Given the description of an element on the screen output the (x, y) to click on. 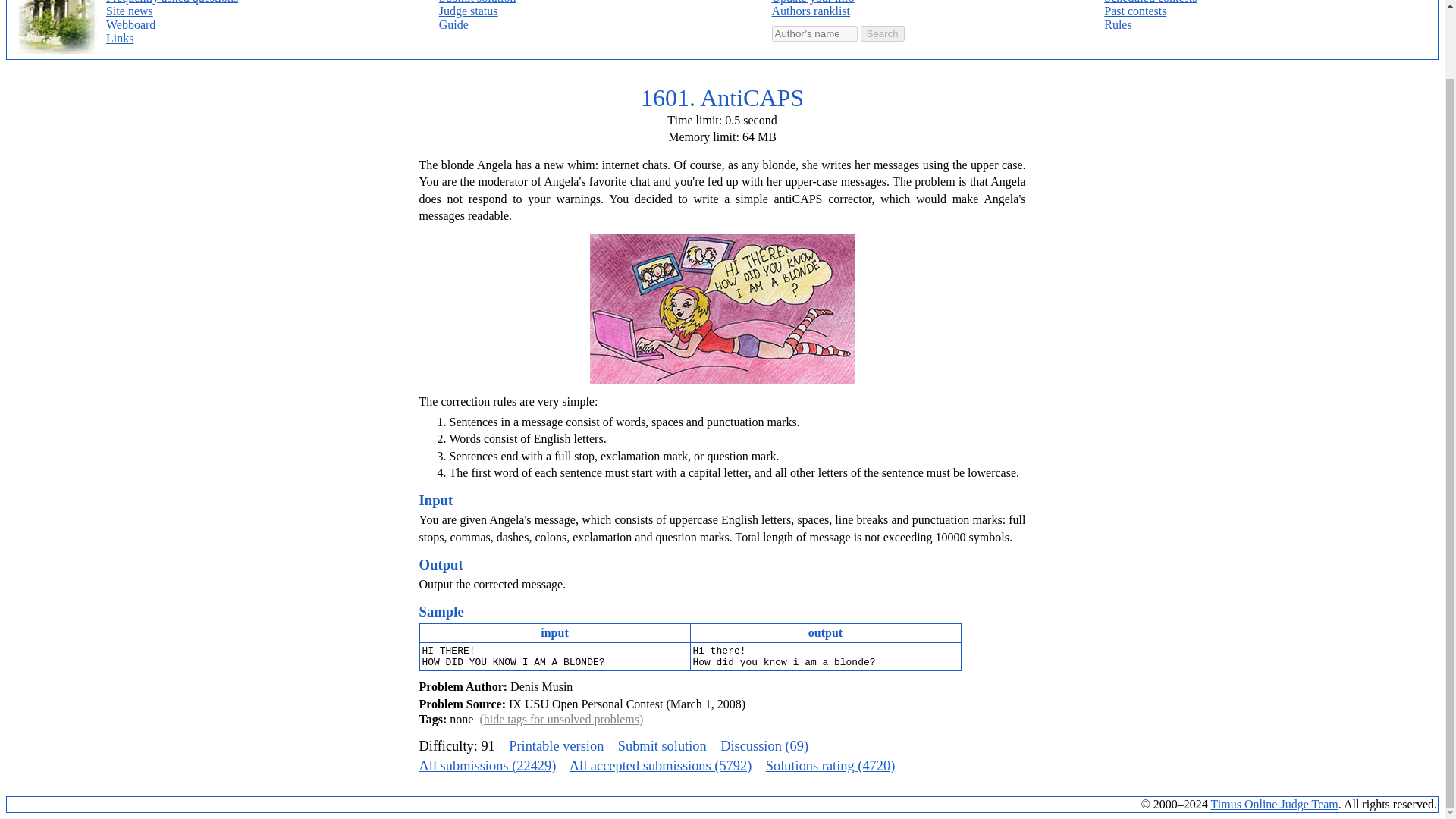
Site news (129, 10)
Submit solution (661, 745)
Submit solution (477, 2)
Authors ranklist (810, 10)
Webboard (130, 24)
Timus Online Judge Team (1274, 803)
Links (119, 38)
Update your info (812, 2)
Search (882, 33)
hide tags for unsolved problems (561, 718)
Past contests (1134, 10)
Rules (1117, 24)
Frequently asked questions (172, 2)
Judge status (468, 10)
Scheduled contests (1149, 2)
